Given the description of an element on the screen output the (x, y) to click on. 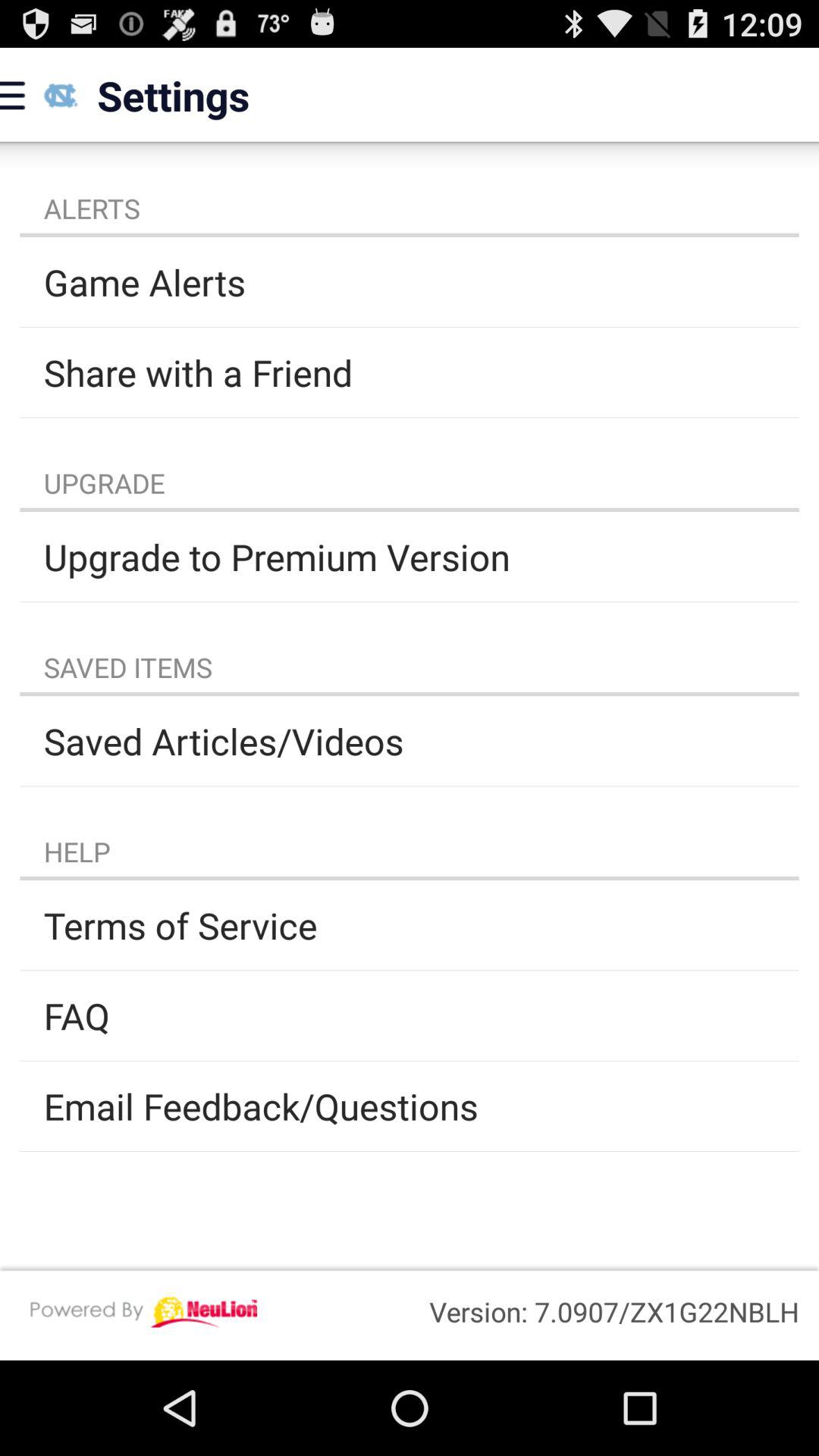
turn on icon next to the version 7 0907 app (143, 1312)
